Given the description of an element on the screen output the (x, y) to click on. 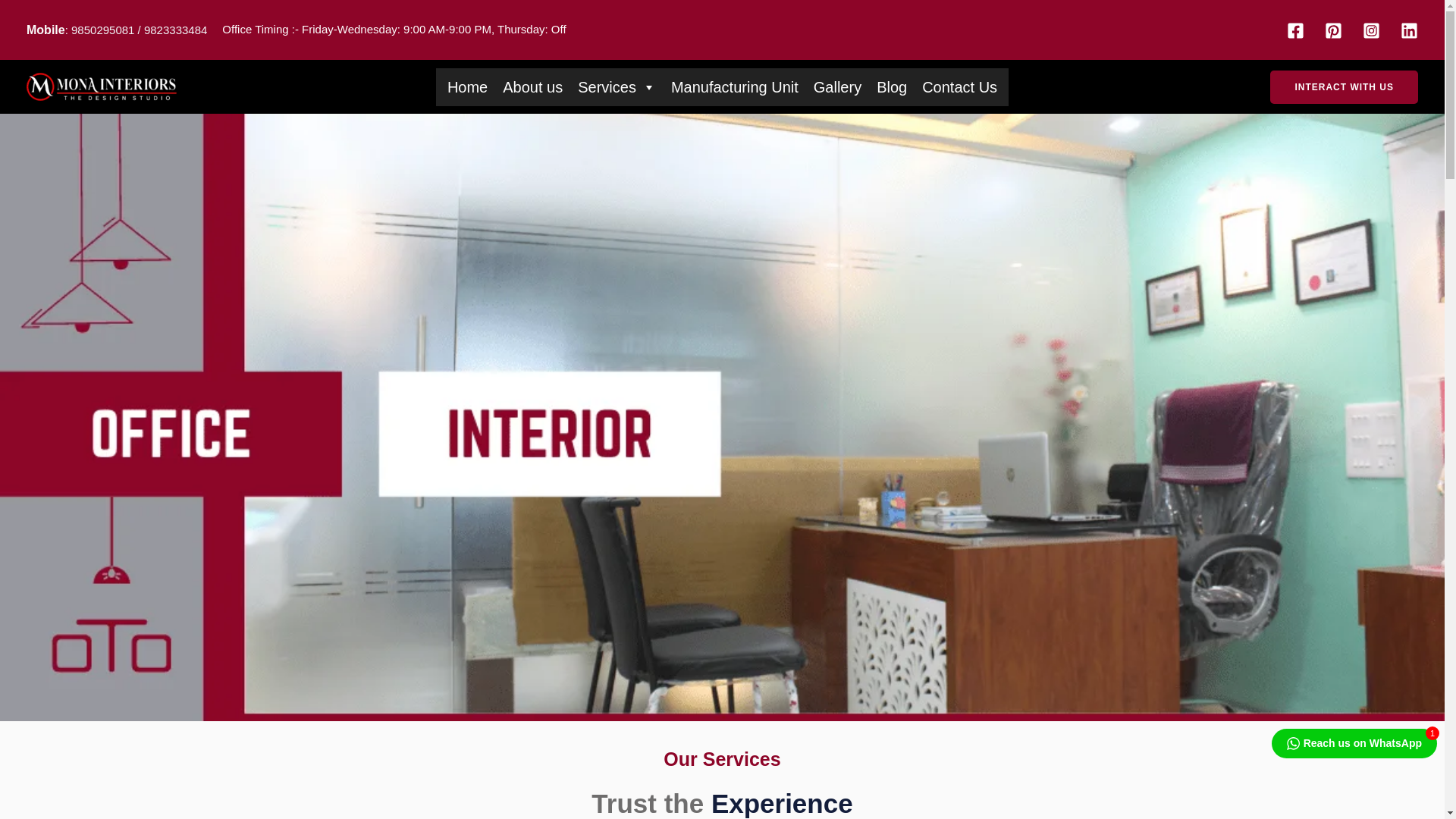
Gallery (837, 87)
Blog (891, 87)
Services (616, 87)
Contact Us (959, 87)
Manufacturing Unit (734, 87)
Home (467, 87)
 9823333484 (174, 29)
INTERACT WITH US (1343, 87)
About us (532, 87)
